Given the description of an element on the screen output the (x, y) to click on. 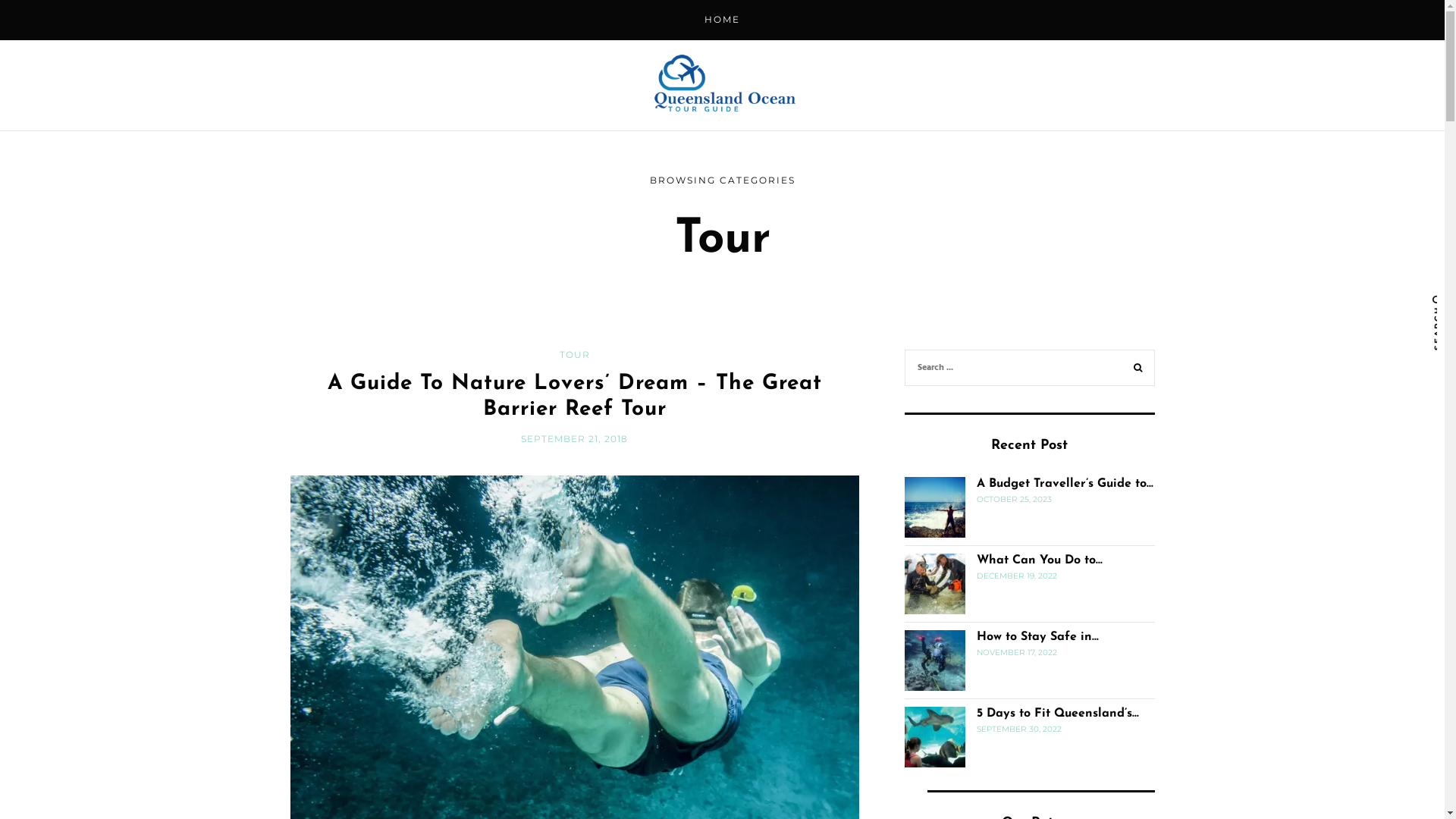
OCTOBER 25, 2023 Element type: text (1013, 499)
DECEMBER 19, 2022 Element type: text (1016, 575)
SEPTEMBER 30, 2022 Element type: text (1018, 729)
Search Element type: text (1137, 369)
HOME Element type: text (722, 19)
Search for : Element type: hover (1028, 367)
NOVEMBER 17, 2022 Element type: text (1016, 652)
SEPTEMBER 21, 2018 Element type: text (573, 438)
Queensland Ocean Tour Guide|Into the Blue Element type: hover (722, 84)
TOUR Element type: text (574, 354)
